Given the description of an element on the screen output the (x, y) to click on. 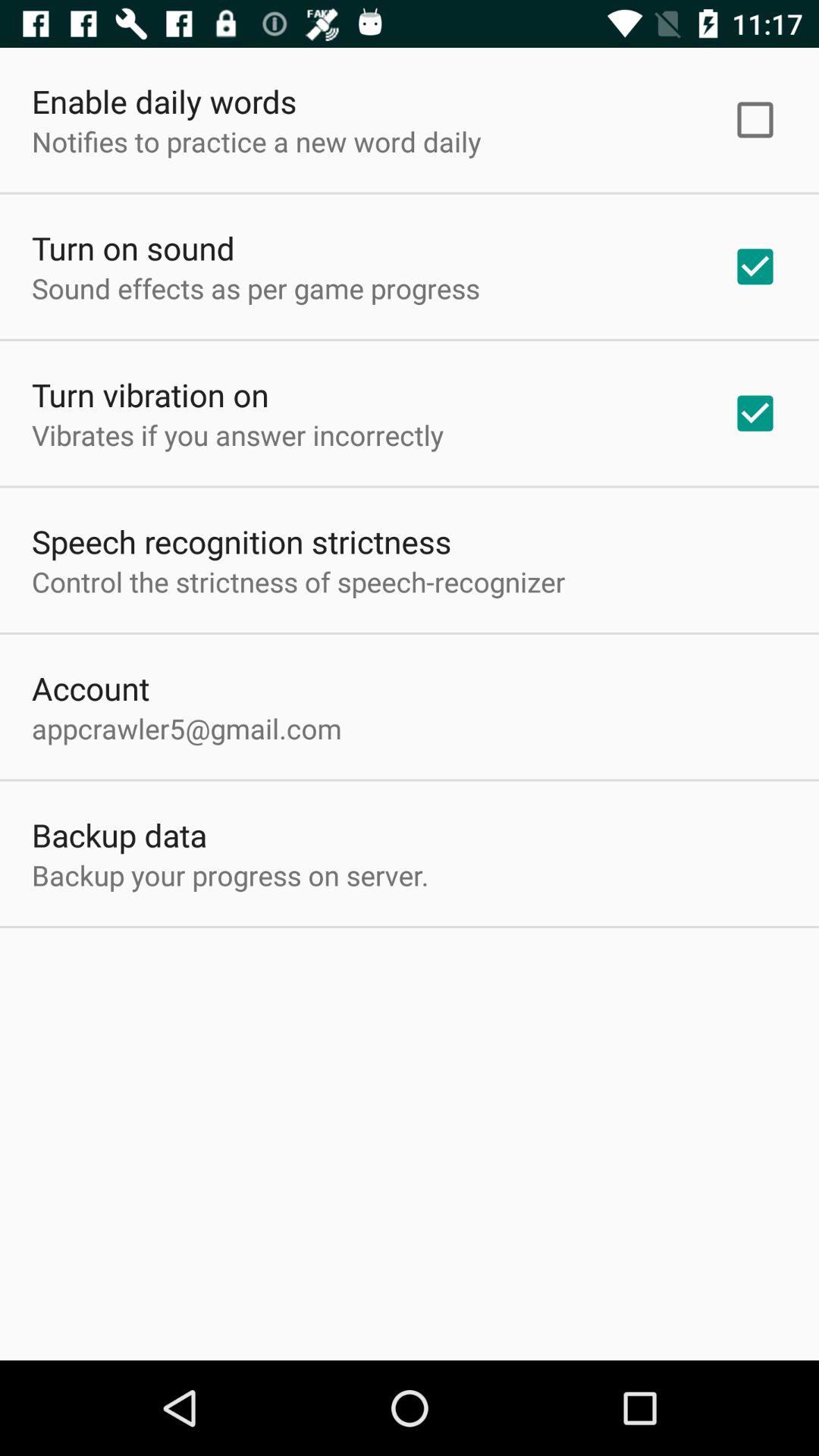
flip until the backup data (119, 834)
